Given the description of an element on the screen output the (x, y) to click on. 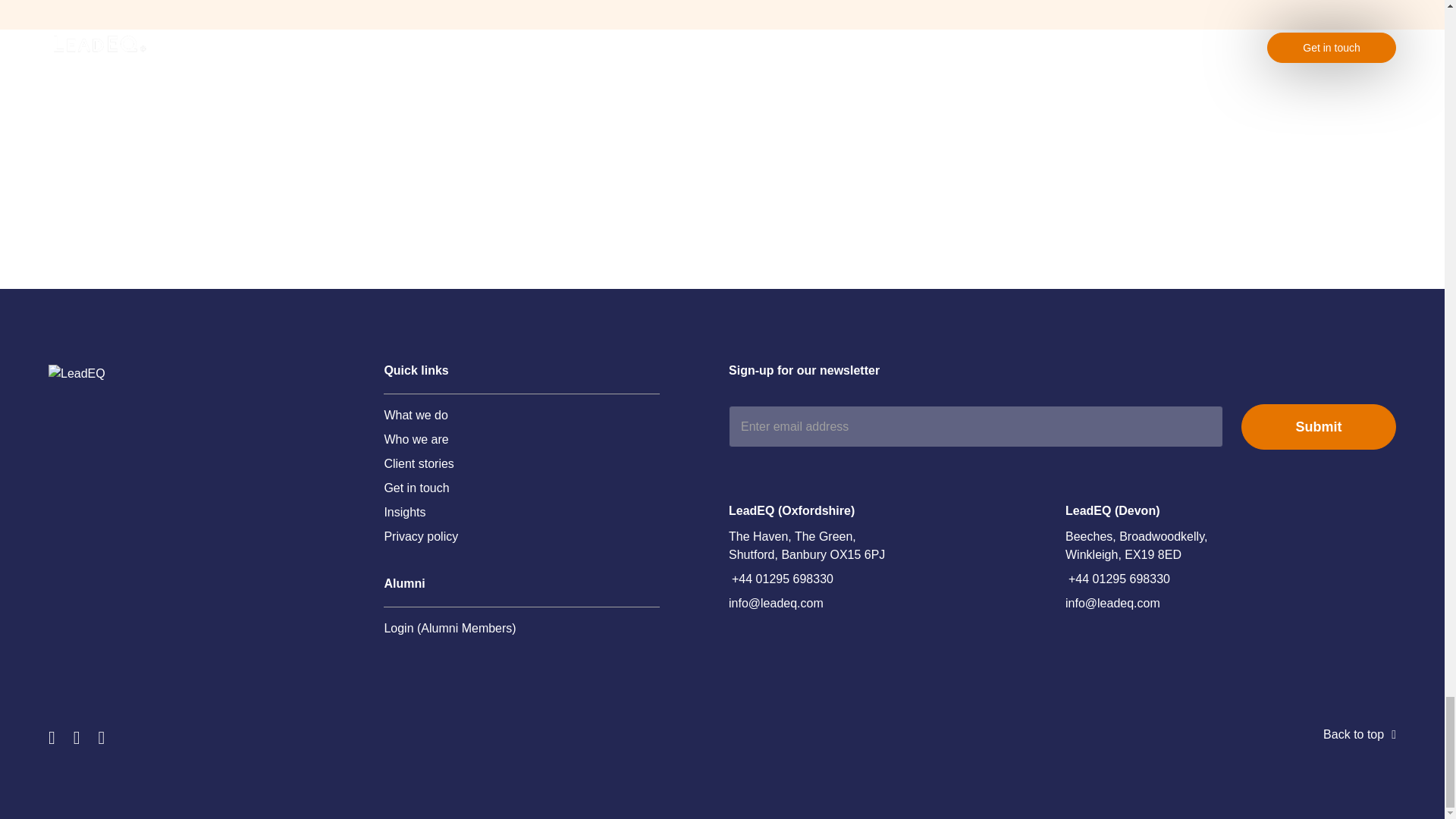
The Haven, The Green, Shutford, Banbury OX15 6PJ (814, 545)
Who we are (416, 439)
Privacy policy (421, 536)
LeadEQ (144, 373)
Submit (1318, 426)
Get in touch (416, 488)
Log in (449, 628)
Client stories (418, 464)
Submit (1318, 426)
Insights (404, 512)
